Given the description of an element on the screen output the (x, y) to click on. 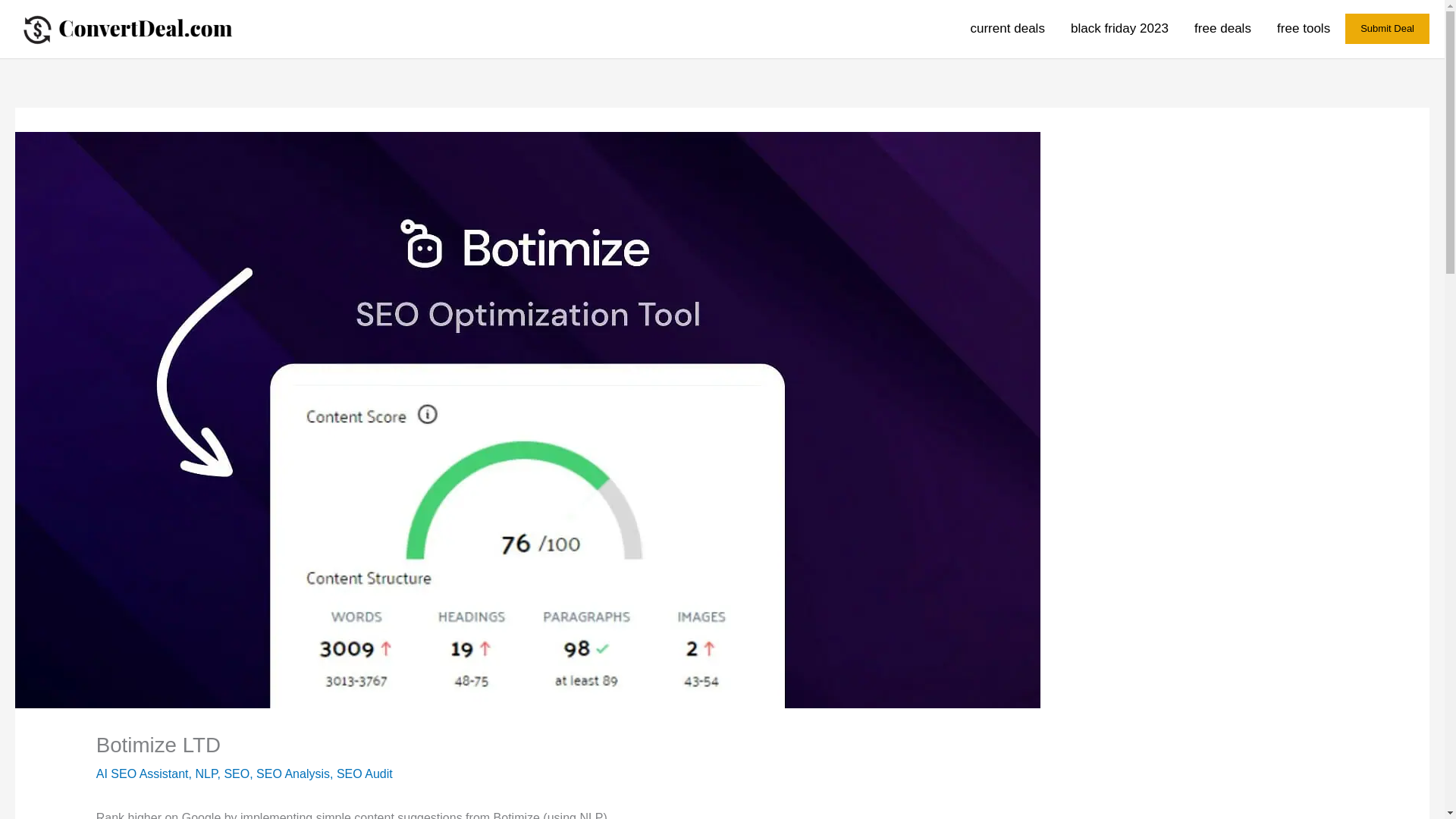
current deals (1007, 28)
AI SEO Assistant (142, 773)
SEO Analysis (293, 773)
free tools (1296, 28)
Submit Deal (1387, 28)
free deals (1221, 28)
NLP (205, 773)
black friday 2023 (1119, 28)
SEO (236, 773)
SEO Audit (364, 773)
